Given the description of an element on the screen output the (x, y) to click on. 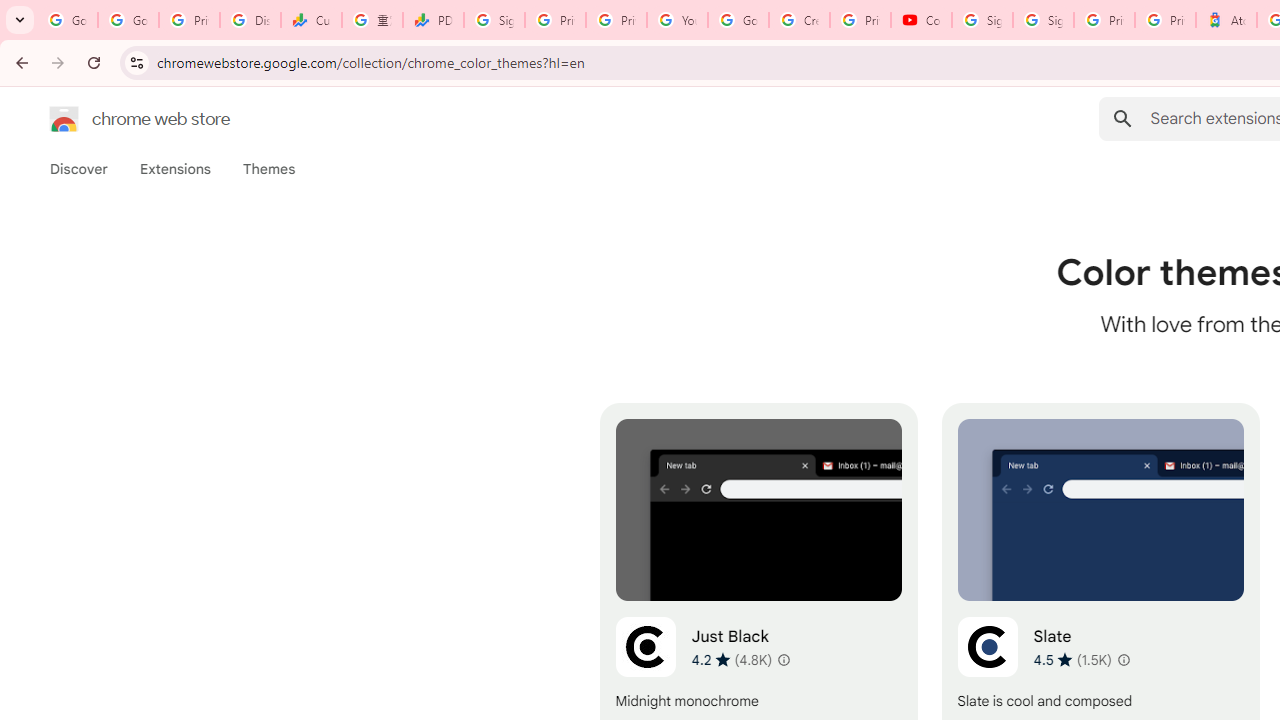
Chrome Web Store logo chrome web store (118, 118)
Google Workspace Admin Community (67, 20)
Sign in - Google Accounts (982, 20)
Average rating 4.2 out of 5 stars. 4.8K ratings. (732, 659)
Extensions (174, 169)
Average rating 4.5 out of 5 stars. 1.5K ratings. (1072, 659)
Create your Google Account (799, 20)
